Given the description of an element on the screen output the (x, y) to click on. 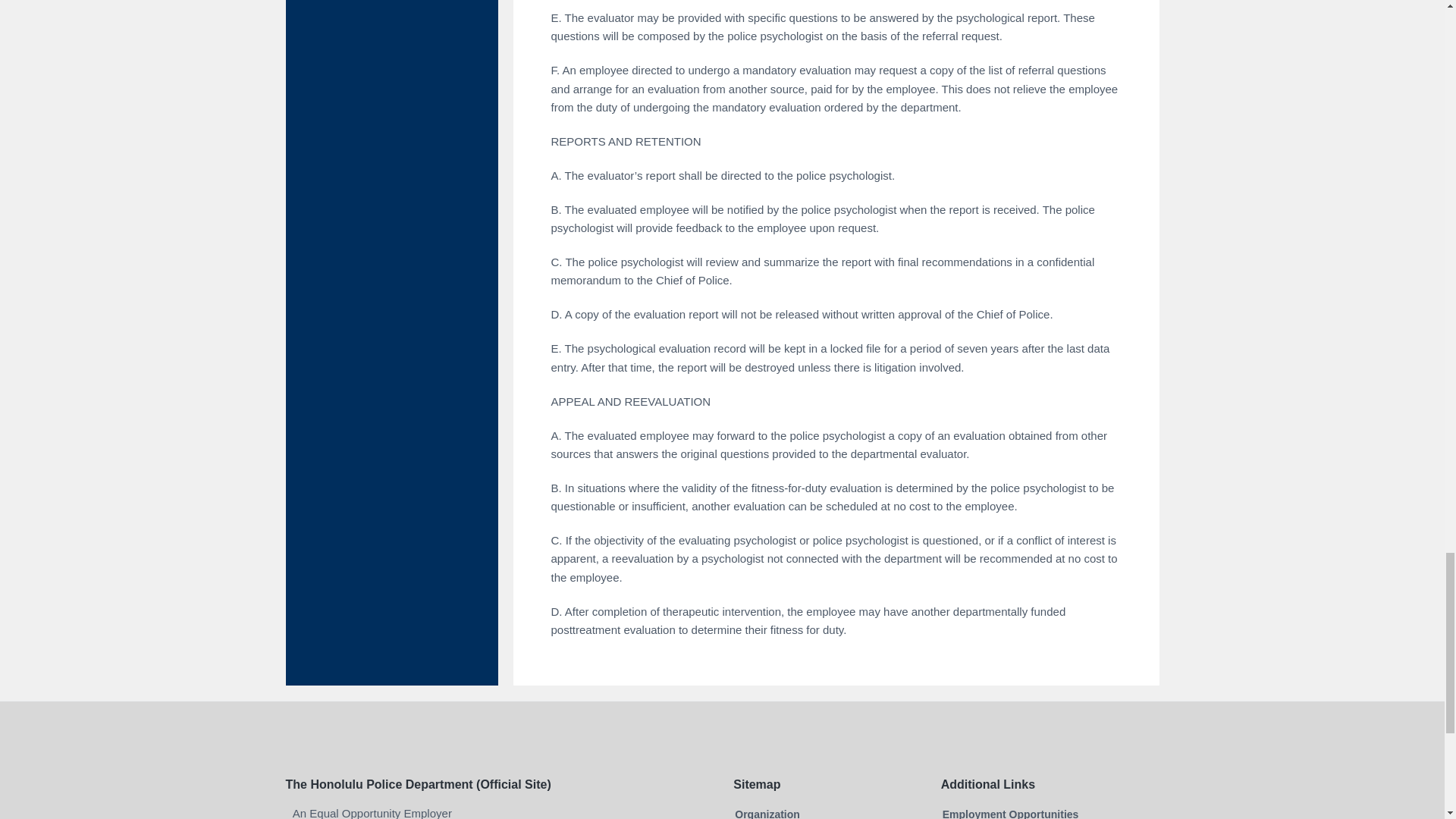
Organization (767, 812)
Employment Opportunities (1010, 812)
